Given the description of an element on the screen output the (x, y) to click on. 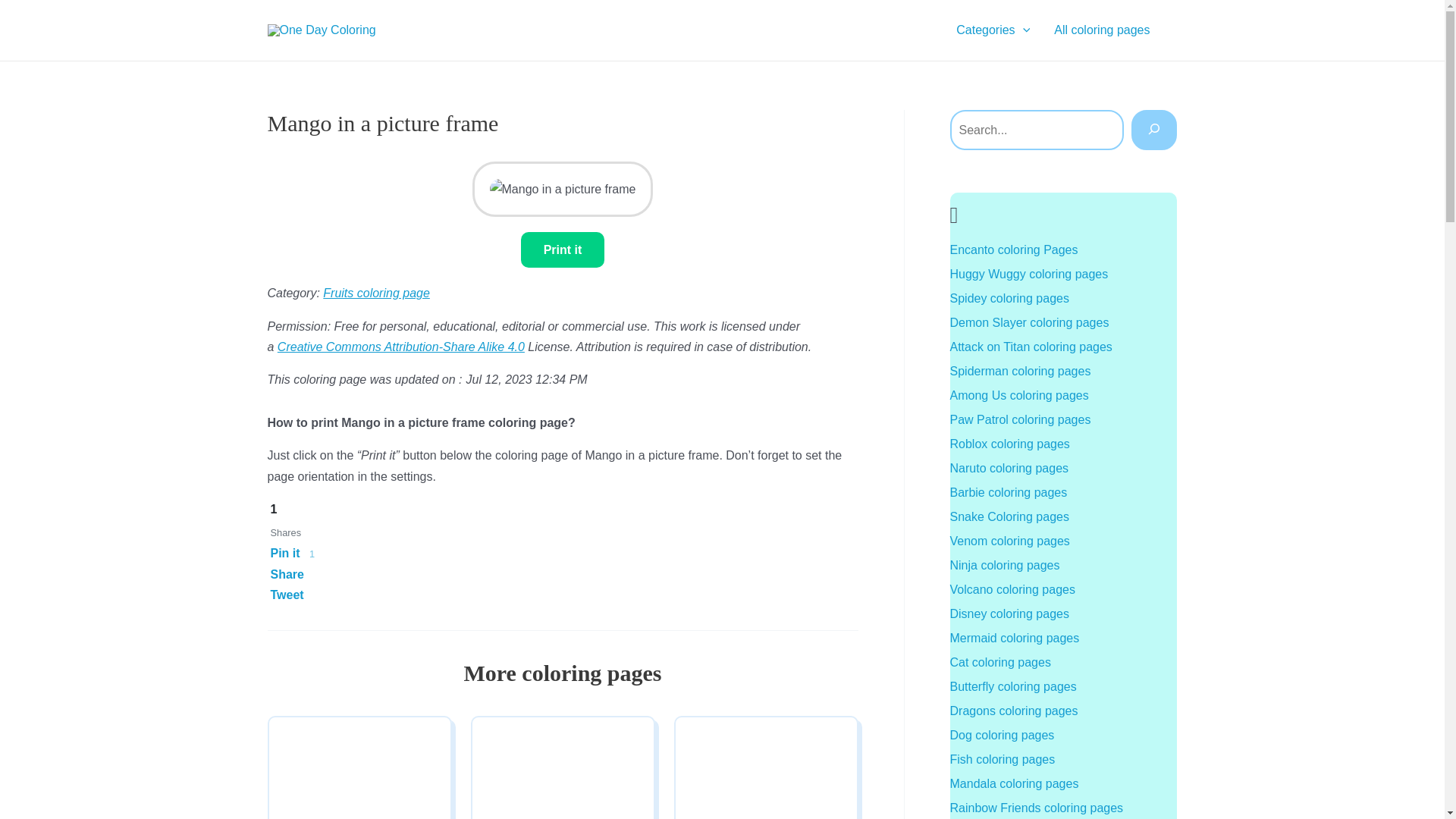
Categories (992, 30)
Two cherries on one stalk 3 (562, 771)
Drawing of bananas in a picture frame 4 (765, 771)
Mango in a picture frame 1 (562, 189)
Various fruits 2 (359, 771)
